Given the description of an element on the screen output the (x, y) to click on. 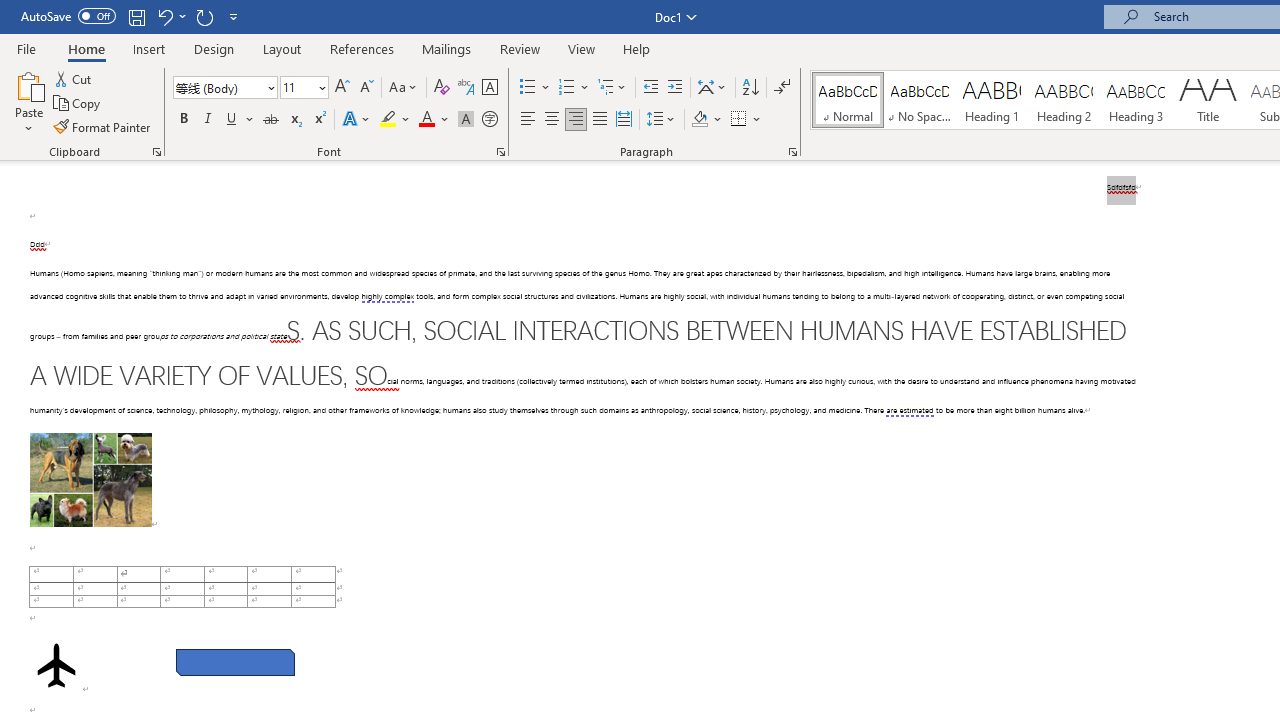
Heading 3 (1135, 100)
Airplane with solid fill (56, 665)
